Given the description of an element on the screen output the (x, y) to click on. 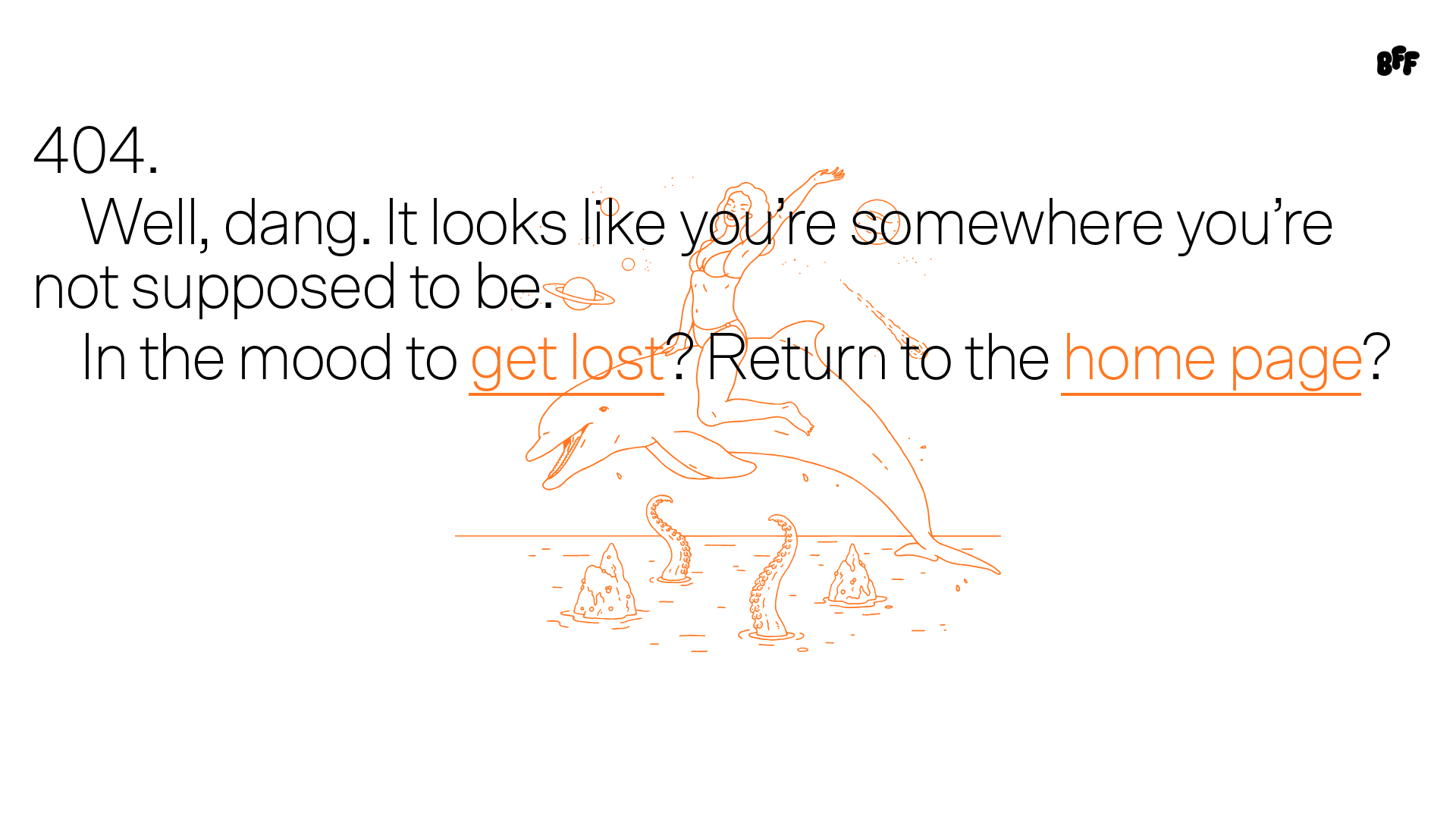
get lost Element type: text (566, 360)
home page Element type: text (1210, 360)
